Given the description of an element on the screen output the (x, y) to click on. 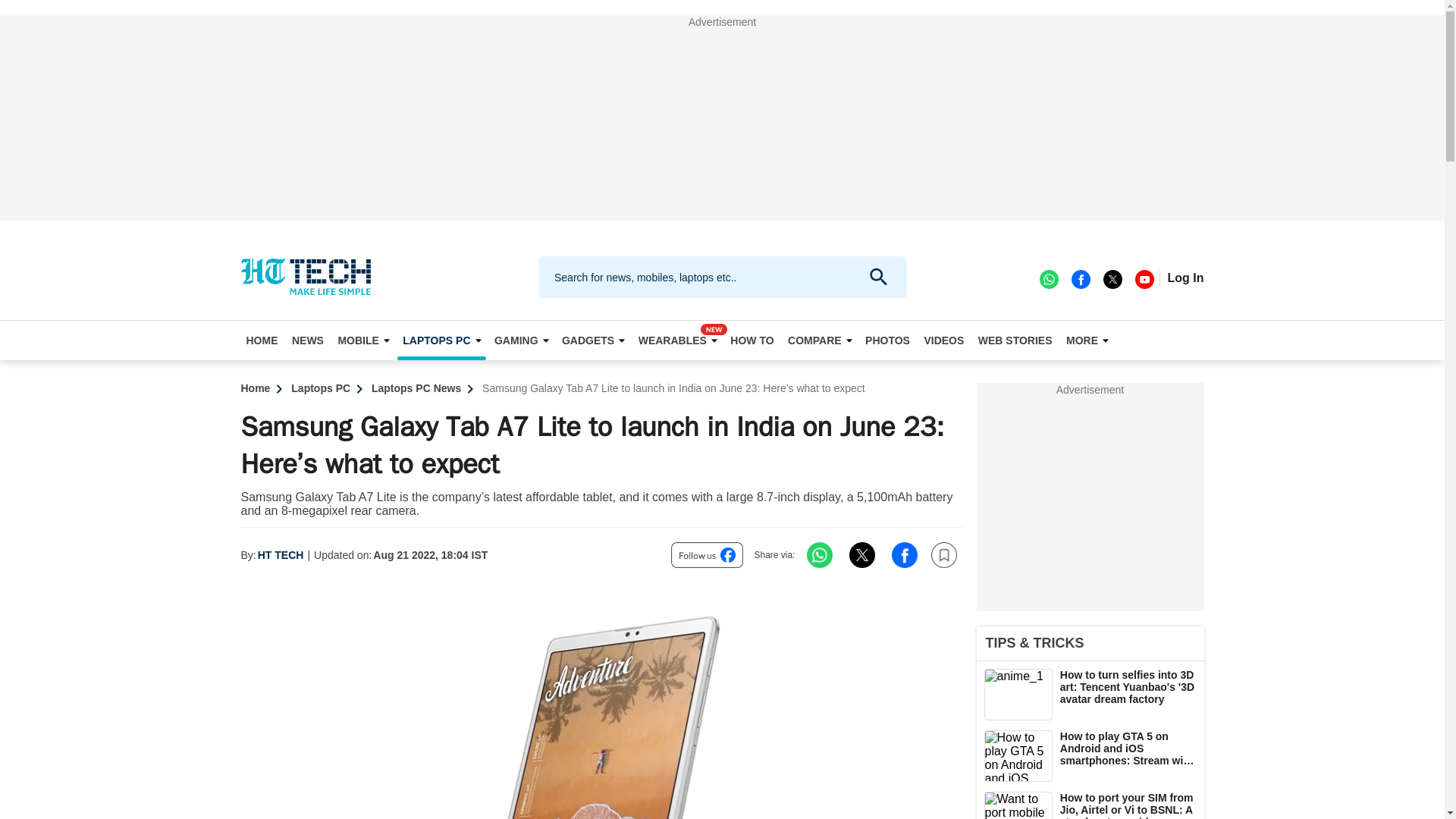
Login (1185, 277)
GADGETS (592, 340)
Get to know more about News from India and around the world. (307, 340)
COMPARE (820, 340)
HOME (262, 340)
GAMING (521, 340)
MOBILE (362, 340)
NEWS (307, 340)
HOW TO (751, 340)
LAPTOPS PC (440, 340)
twitter (1111, 278)
facebook (1079, 278)
WhatsApp channel (1048, 278)
